Given the description of an element on the screen output the (x, y) to click on. 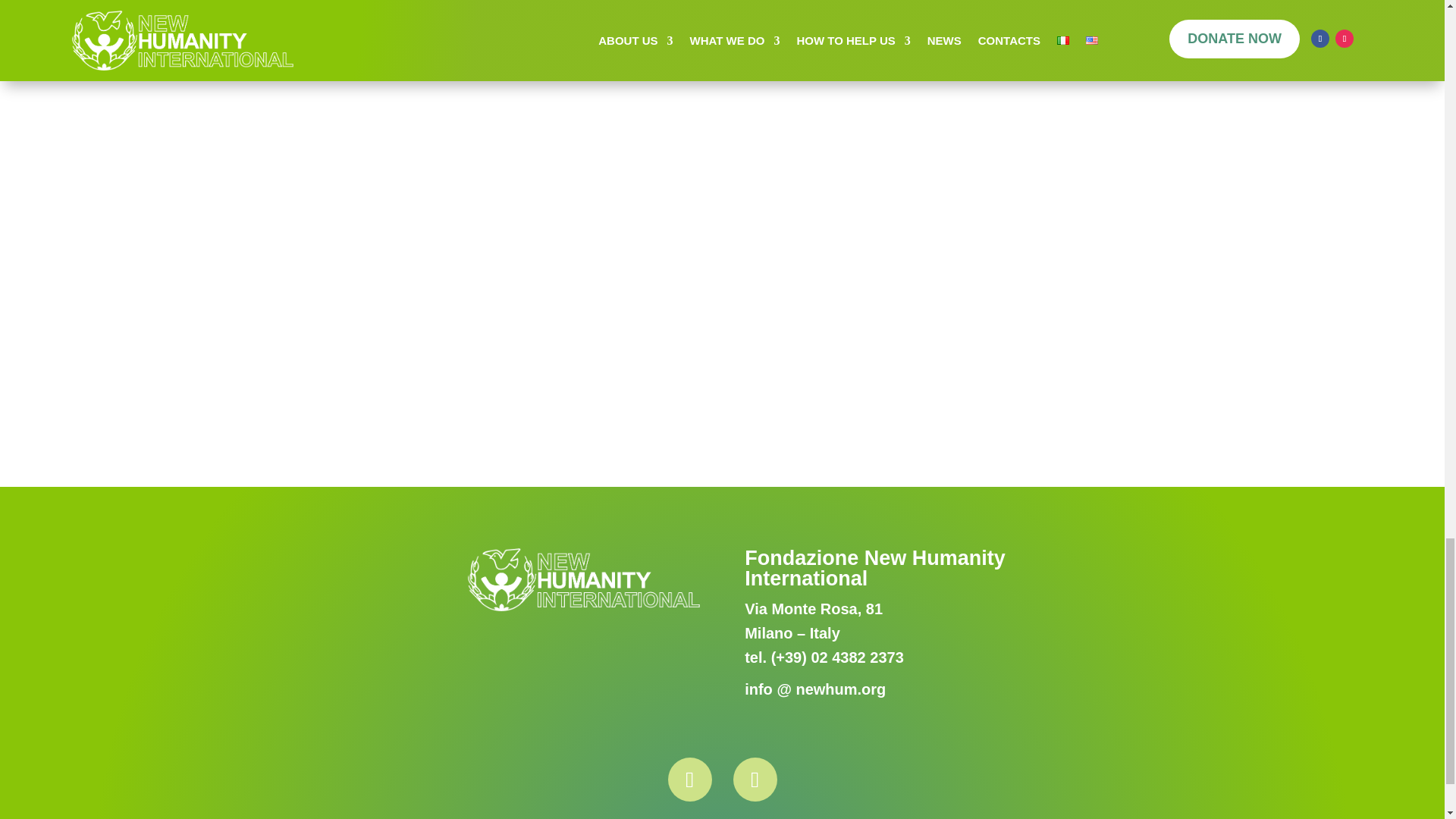
Follow on Facebook (688, 779)
Follow on Instagram (754, 779)
